Given the description of an element on the screen output the (x, y) to click on. 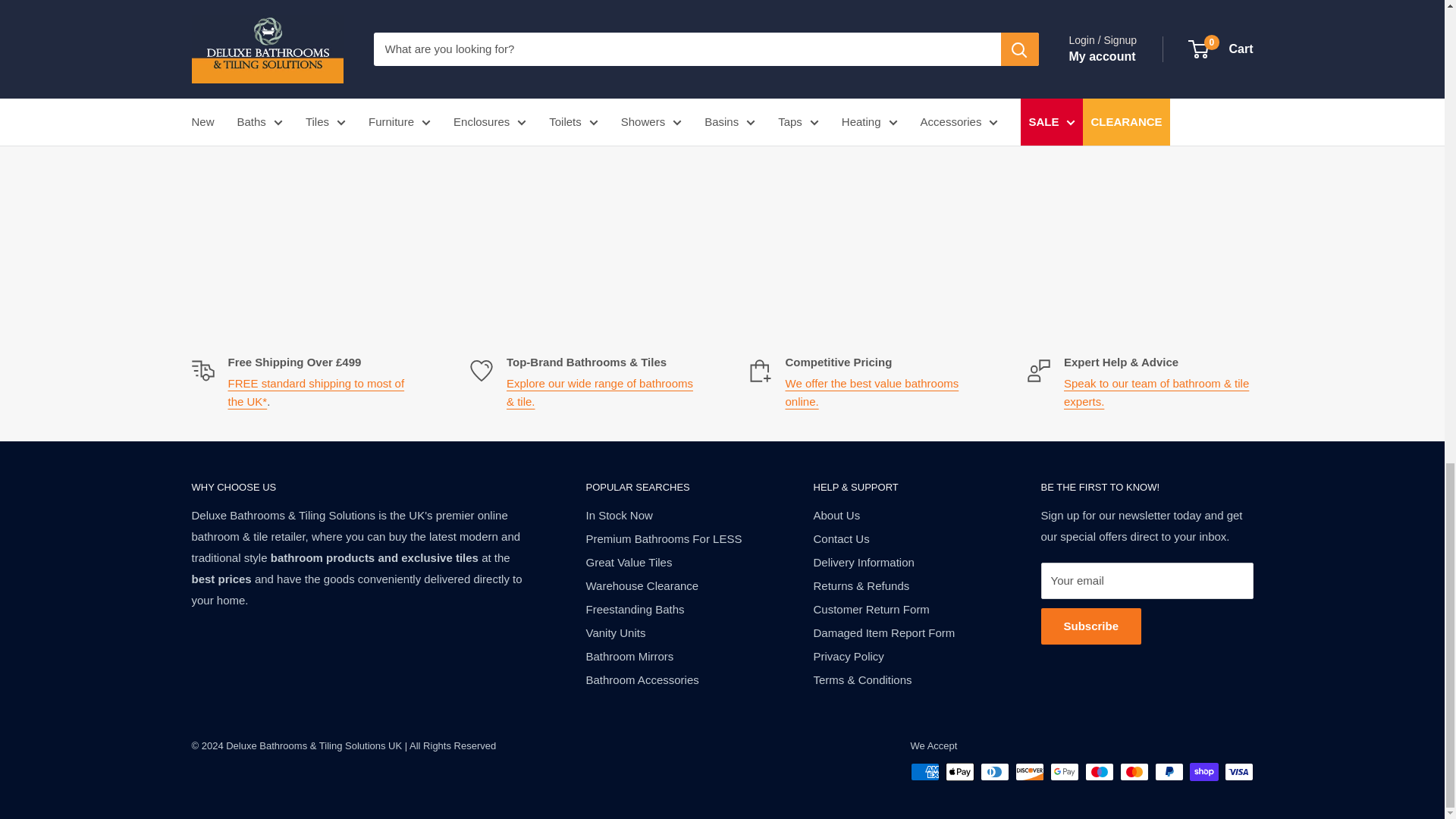
Contact Deluxe Bathrooms (1156, 391)
Delivery Information (315, 391)
We offer the best value bathrooms online. (872, 391)
